Given the description of an element on the screen output the (x, y) to click on. 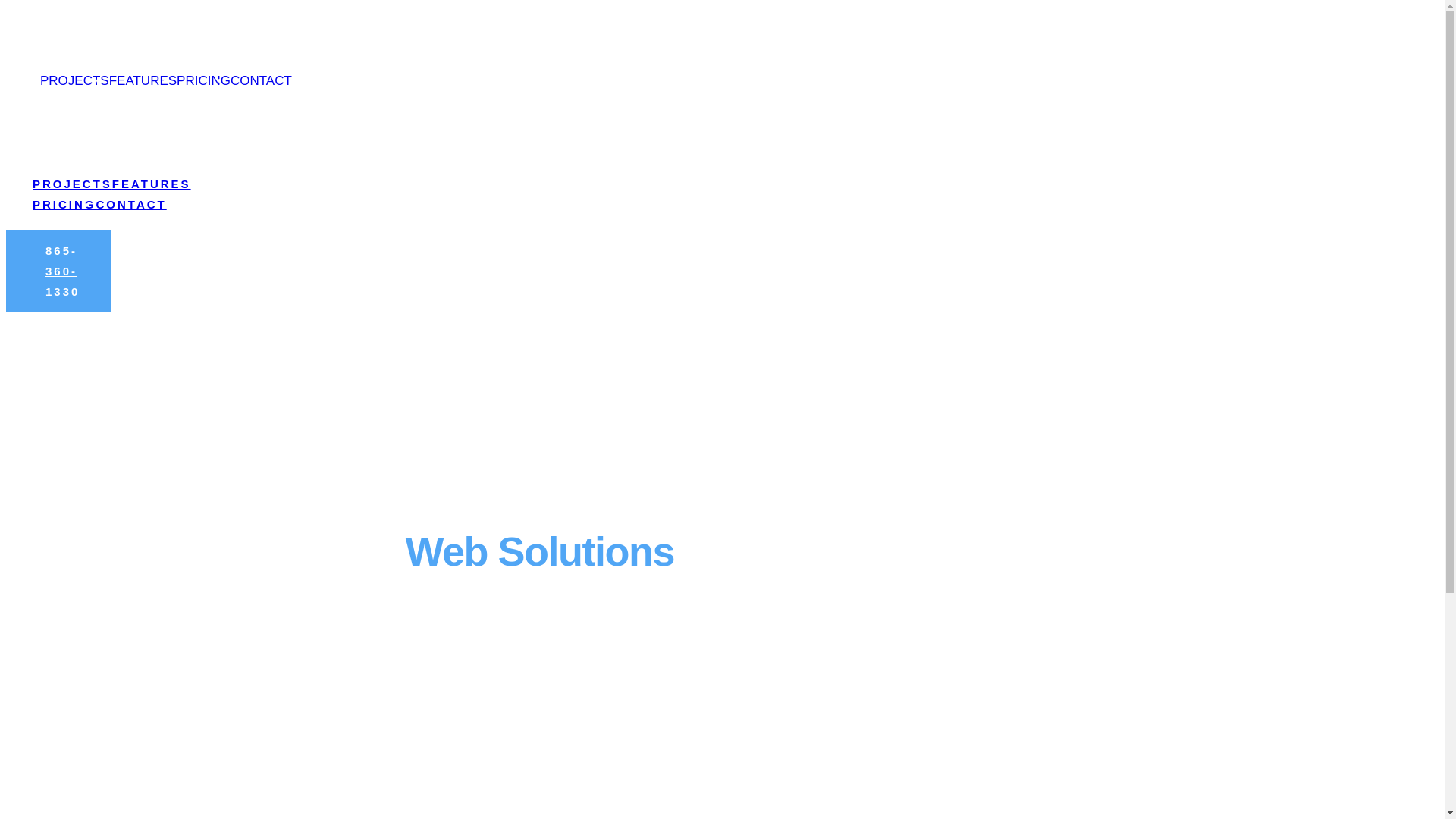
FEATURES Element type: text (174, 142)
CONTACT Element type: text (154, 162)
CONTACT Element type: text (131, 203)
FEATURES Element type: text (176, 41)
LEARN MORE Element type: text (345, 680)
865-360-1330 Element type: text (58, 270)
PROJECTS Element type: text (79, 142)
PROJECTS Element type: text (72, 183)
PRICING Element type: text (64, 203)
PRICING Element type: text (260, 41)
FEATURES Element type: text (142, 80)
FEATURES Element type: text (151, 183)
PROJECTS Element type: text (85, 41)
PRICING Element type: text (71, 162)
PRICING Element type: text (203, 80)
PROJECTS Element type: text (74, 80)
CONTACT Element type: text (81, 61)
CONTACT Element type: text (260, 80)
